Given the description of an element on the screen output the (x, y) to click on. 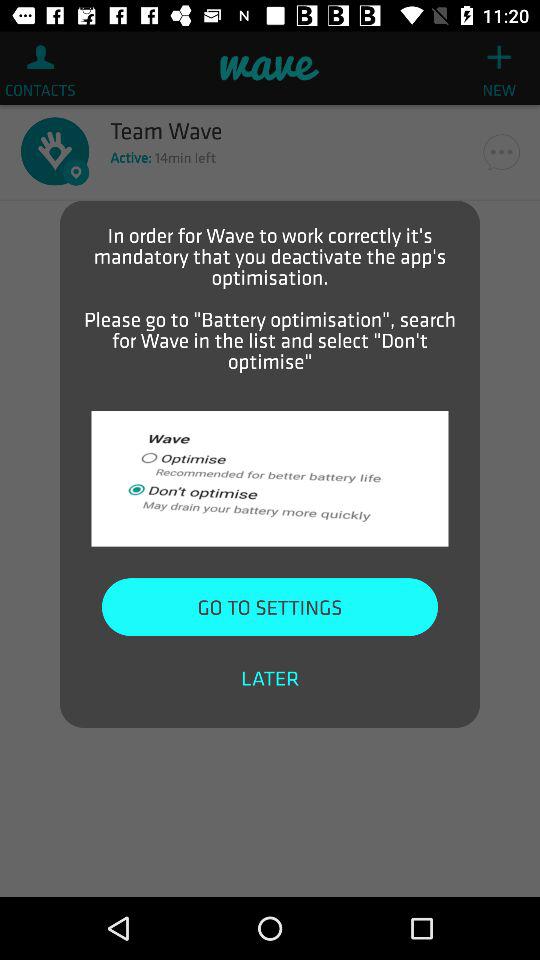
tap item at the bottom (269, 677)
